Given the description of an element on the screen output the (x, y) to click on. 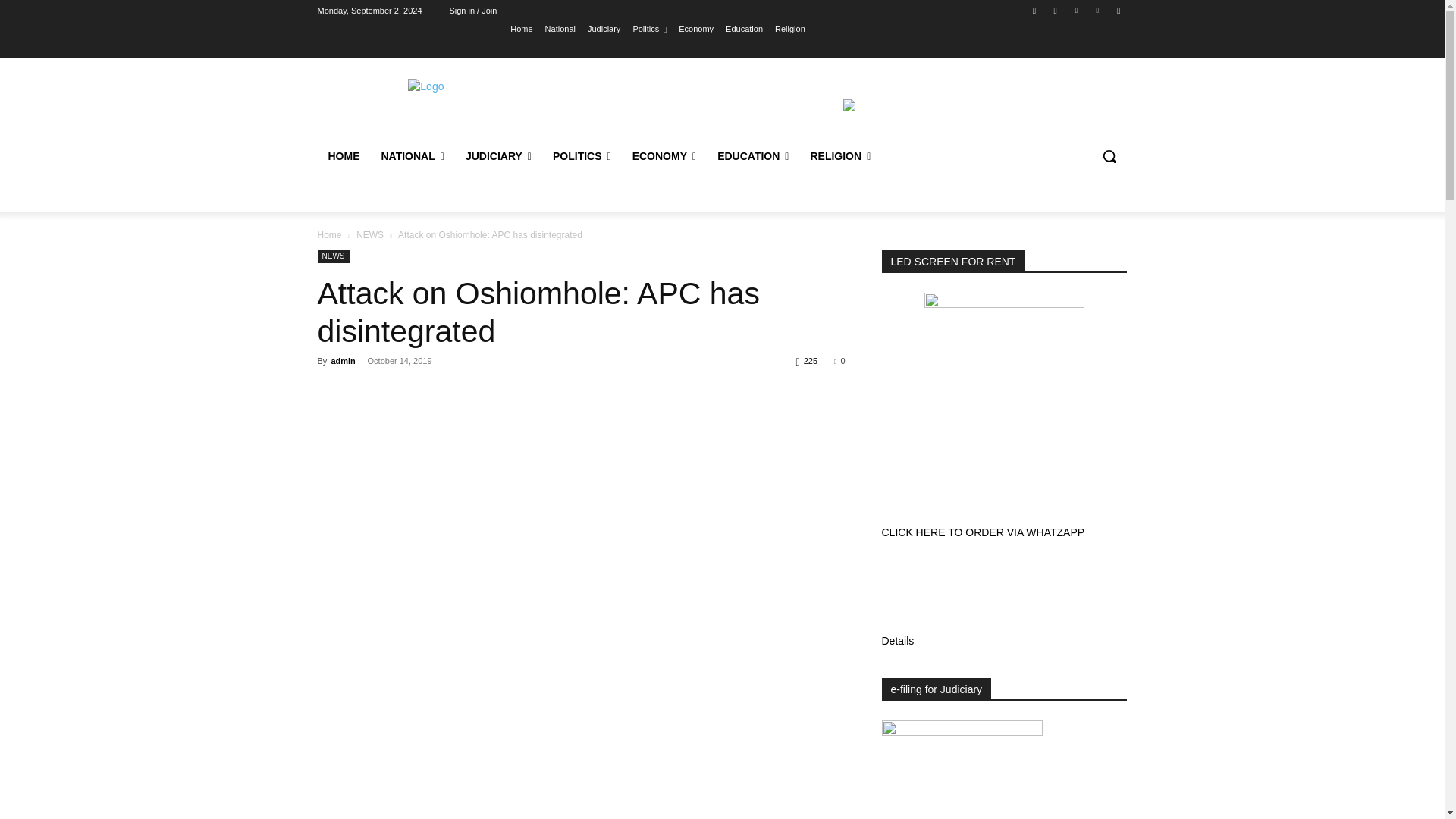
Instagram (1055, 9)
Religion (789, 28)
Home (521, 28)
Politics (648, 28)
Vimeo (1097, 9)
National (559, 28)
Twitter (1075, 9)
Facebook (1034, 9)
Judiciary (604, 28)
Economy (695, 28)
